Given the description of an element on the screen output the (x, y) to click on. 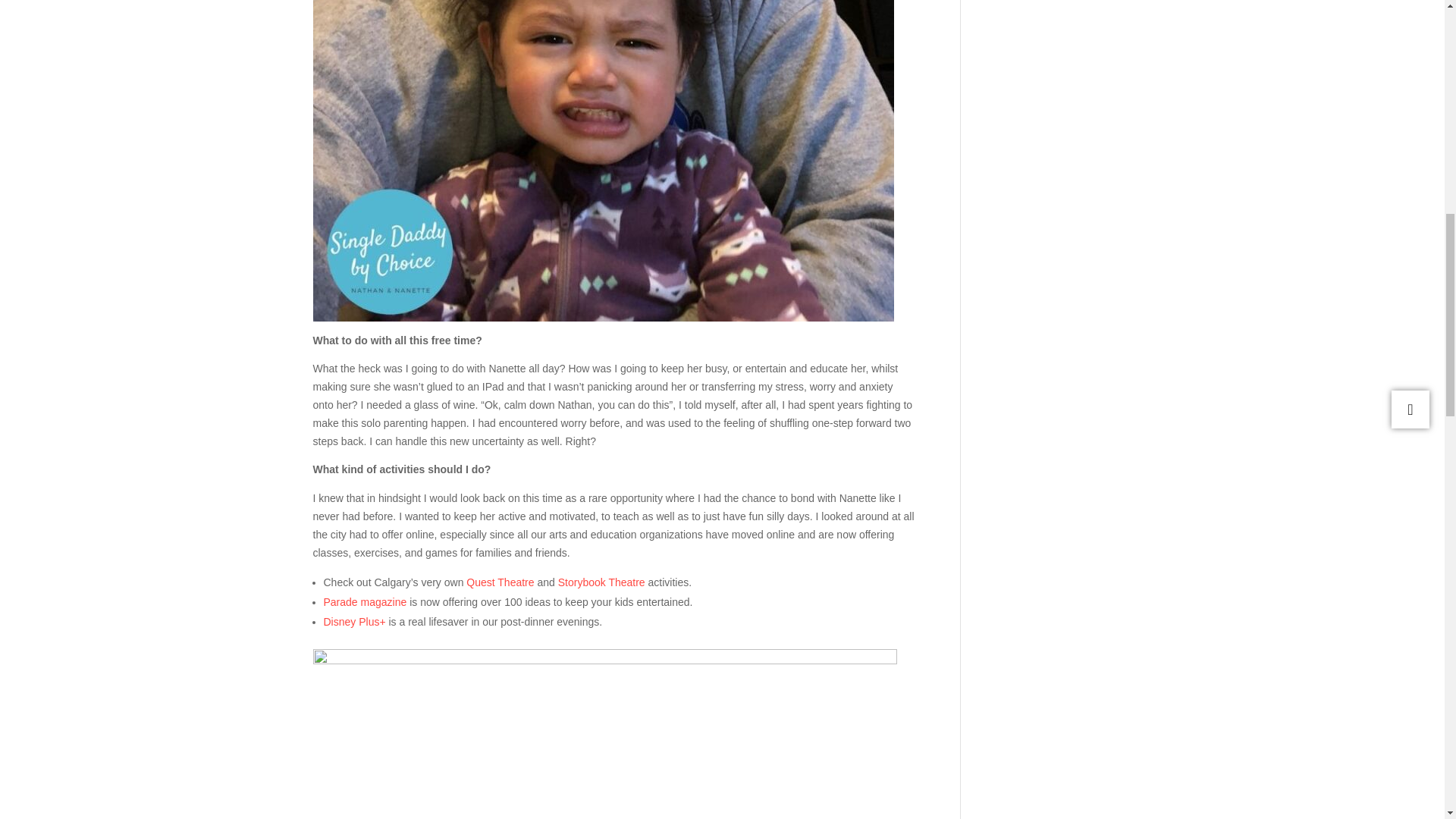
Parade magazine (364, 602)
Quest Theatre (499, 582)
Storybook Theatre (601, 582)
